Given the description of an element on the screen output the (x, y) to click on. 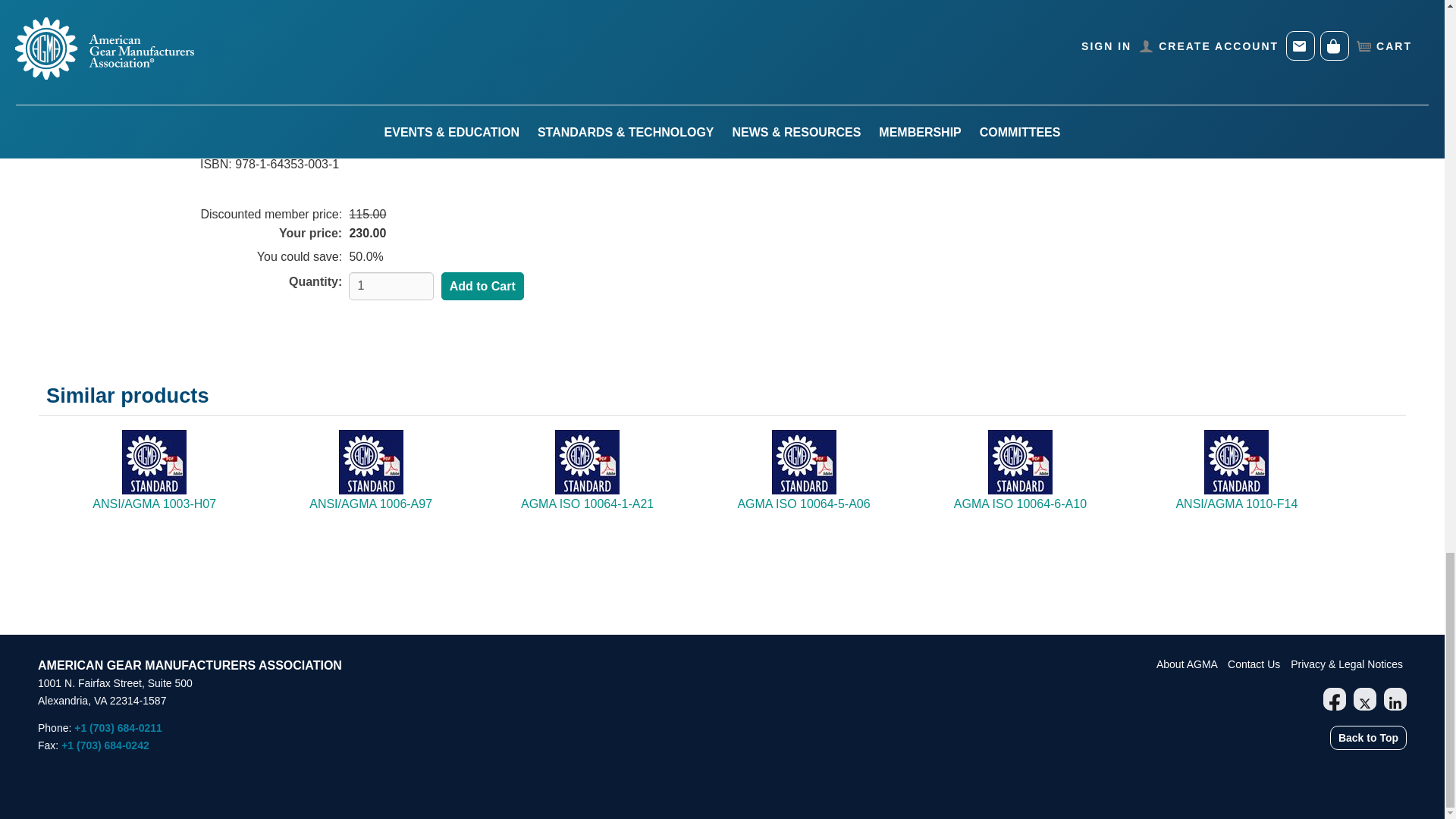
AGMA ISO 10064-5-A06 (802, 504)
AGMA ISO 10064-1-A21 (587, 504)
AGMA ISO 10064-6-A10 (1019, 504)
1 (391, 285)
About AGMA (1188, 664)
AGMA ISO 10064-1-A21 (587, 504)
AMERICAN GEAR MANUFACTURERS ASSOCIATION (189, 665)
AGMA ISO 10064-6-A10 (1019, 504)
Add to Cart (482, 286)
Contact Us (1254, 664)
